Given the description of an element on the screen output the (x, y) to click on. 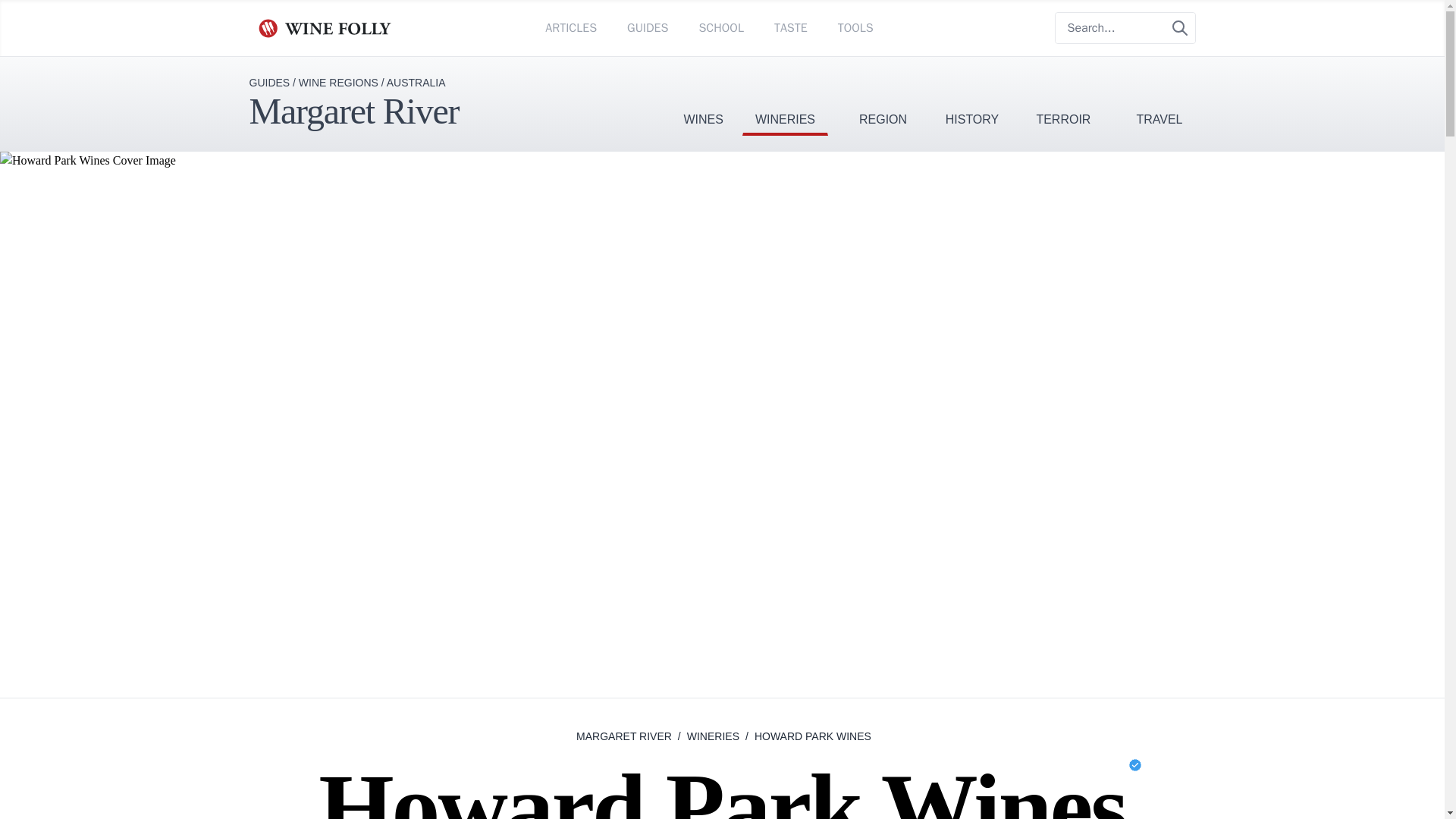
WINE REGIONS (338, 82)
GUIDES (268, 82)
AUSTRALIA (416, 82)
WINERIES (785, 95)
Margaret River (353, 110)
SCHOOL (720, 27)
TOOLS (855, 27)
ARTICLES (570, 27)
MARGARET RIVER (623, 735)
GUIDES (647, 27)
